Given the description of an element on the screen output the (x, y) to click on. 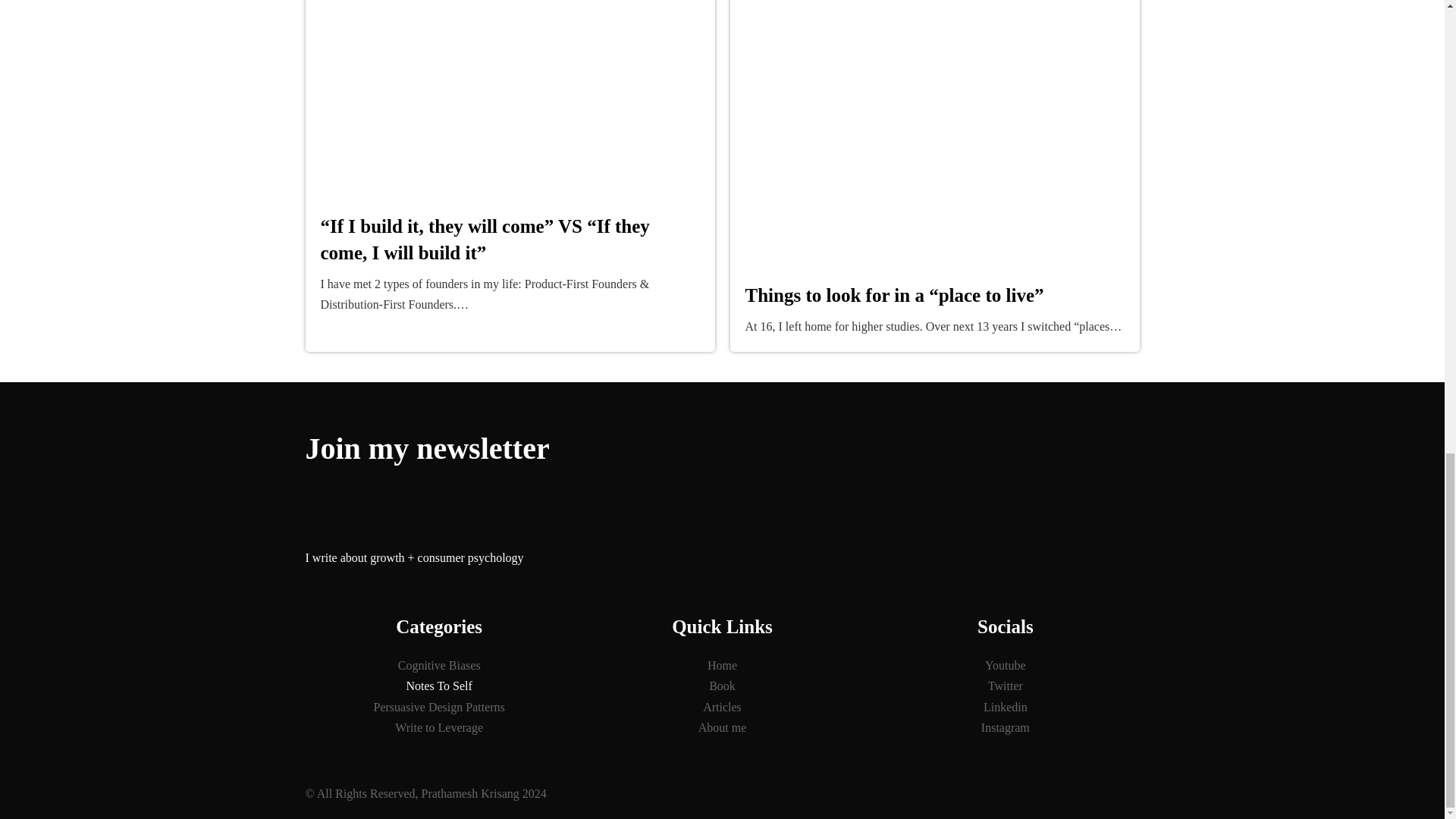
Home (722, 665)
Write to Leverage (438, 727)
Cognitive Biases (438, 665)
About me (722, 727)
Youtube (1004, 665)
Notes To Self (438, 685)
Persuasive Design Patterns (438, 706)
Twitter (1004, 685)
Articles (722, 706)
Book (722, 685)
